Given the description of an element on the screen output the (x, y) to click on. 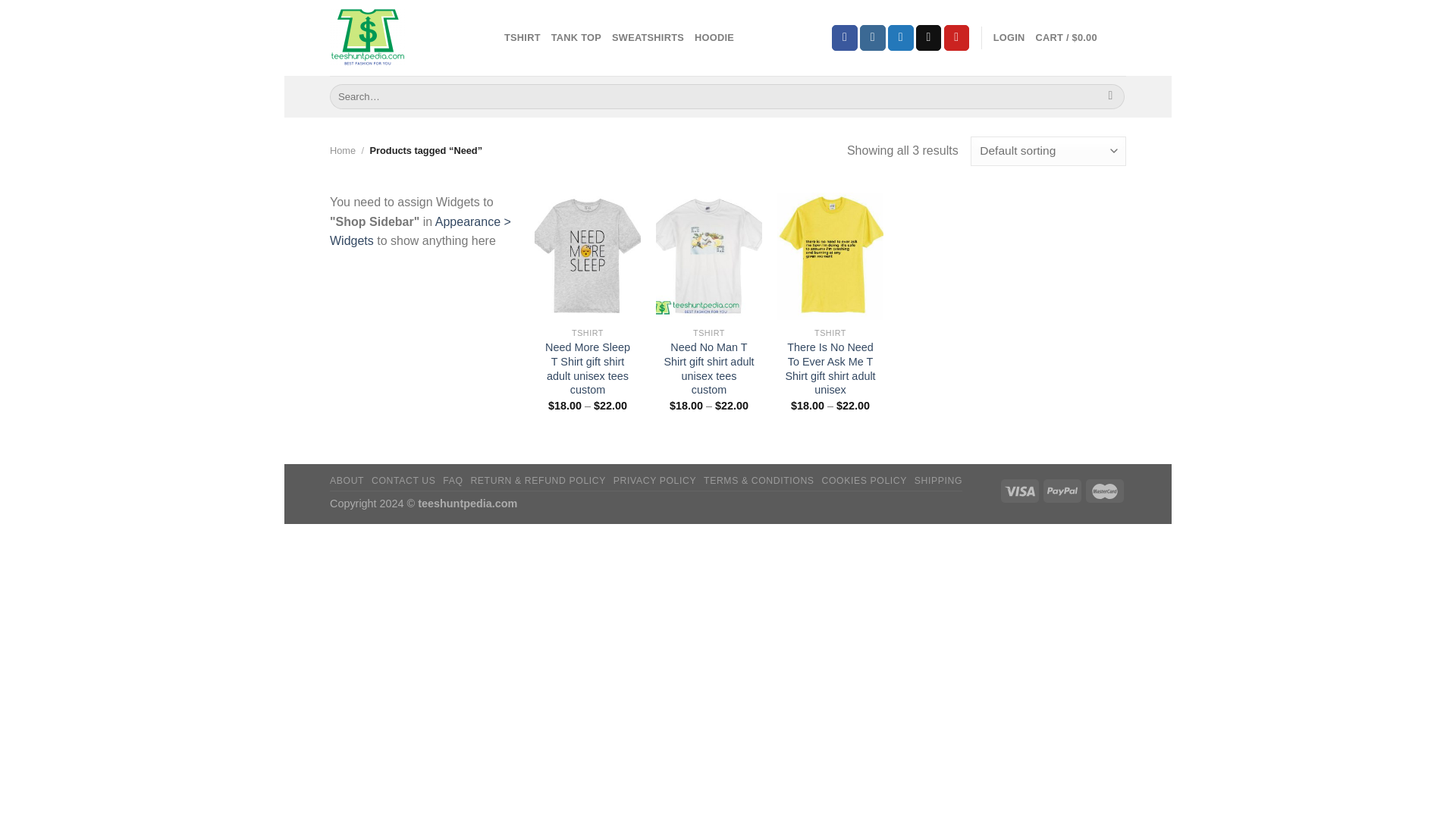
HOODIE (713, 37)
Follow on Facebook (844, 37)
ABOUT (347, 480)
Need No Man T Shirt gift shirt adult unisex tees custom (708, 368)
Follow on Instagram (872, 37)
Home (342, 150)
Need More Sleep T Shirt gift shirt adult unisex tees custom (587, 368)
SWEATSHIRTS (647, 37)
TSHIRT (521, 37)
TANK TOP (576, 37)
